Given the description of an element on the screen output the (x, y) to click on. 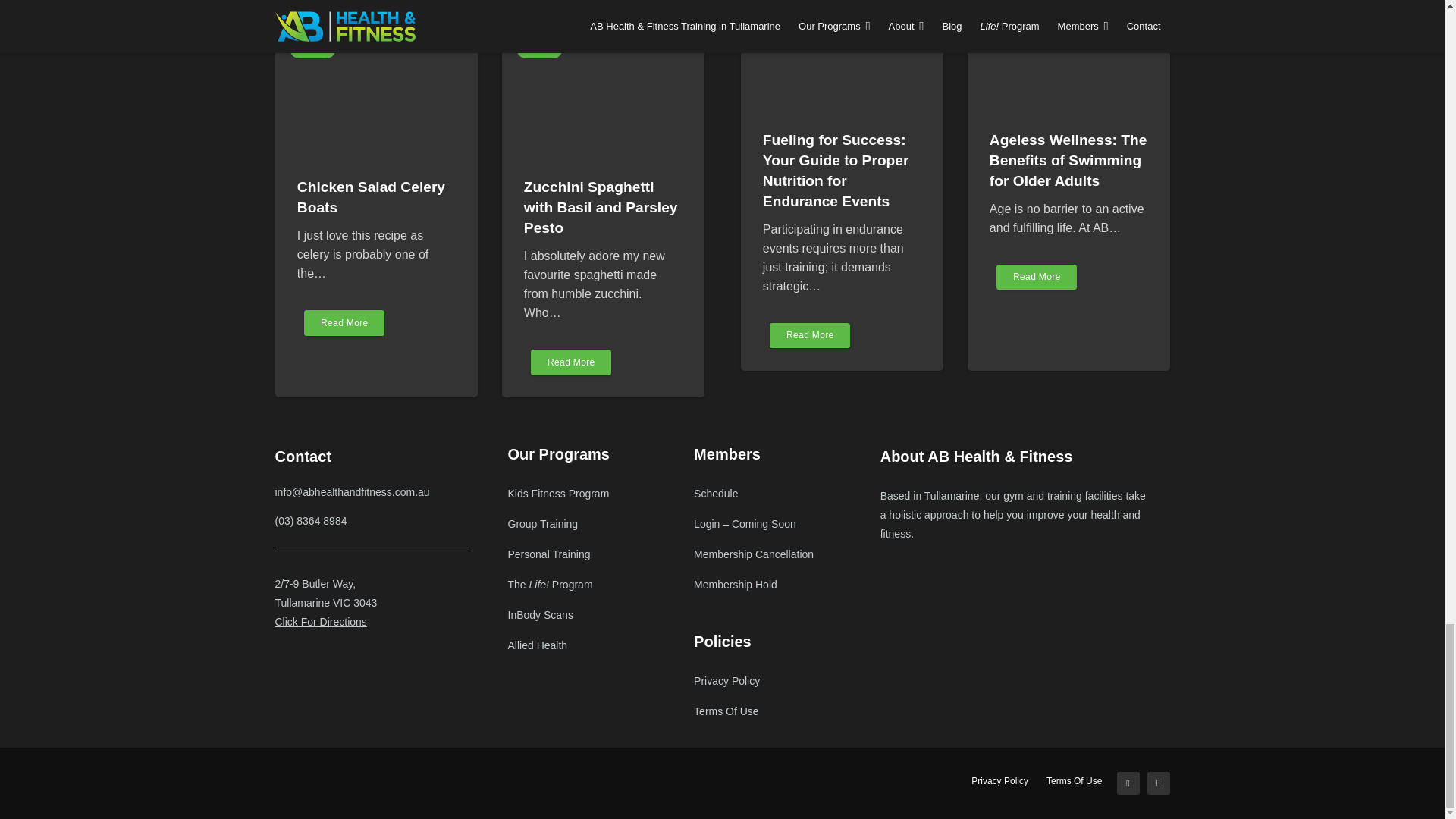
Instagram (1158, 783)
Facebook (1127, 783)
